Given the description of an element on the screen output the (x, y) to click on. 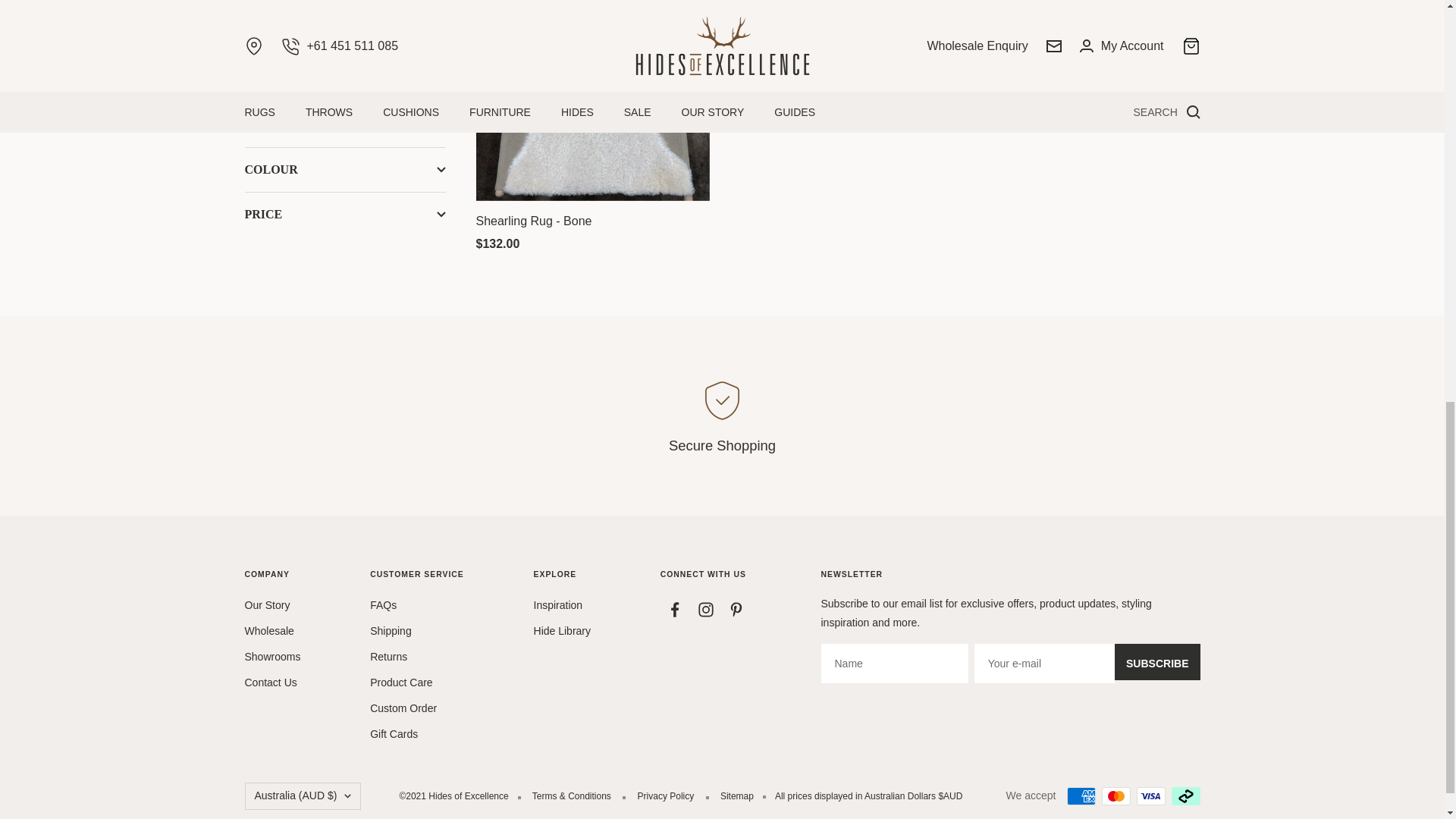
Subscribe (1157, 661)
Secure Shopping (721, 415)
